Given the description of an element on the screen output the (x, y) to click on. 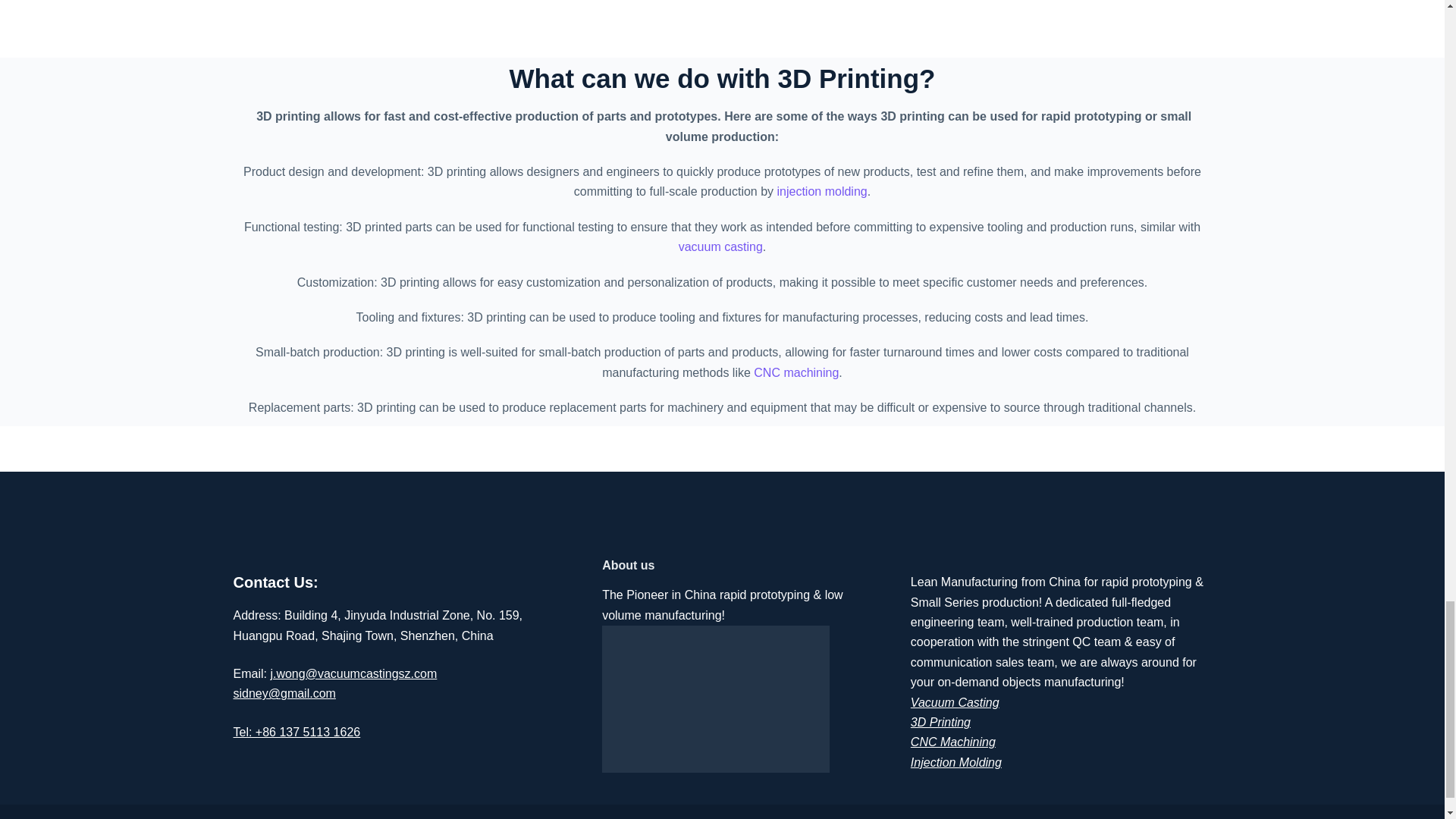
Vacuum Casting (954, 702)
Injection Molding (956, 762)
vacuum casting (720, 246)
injection molding (822, 191)
CNC machining (796, 372)
3D Printing (941, 721)
CNC Machining (953, 741)
